Given the description of an element on the screen output the (x, y) to click on. 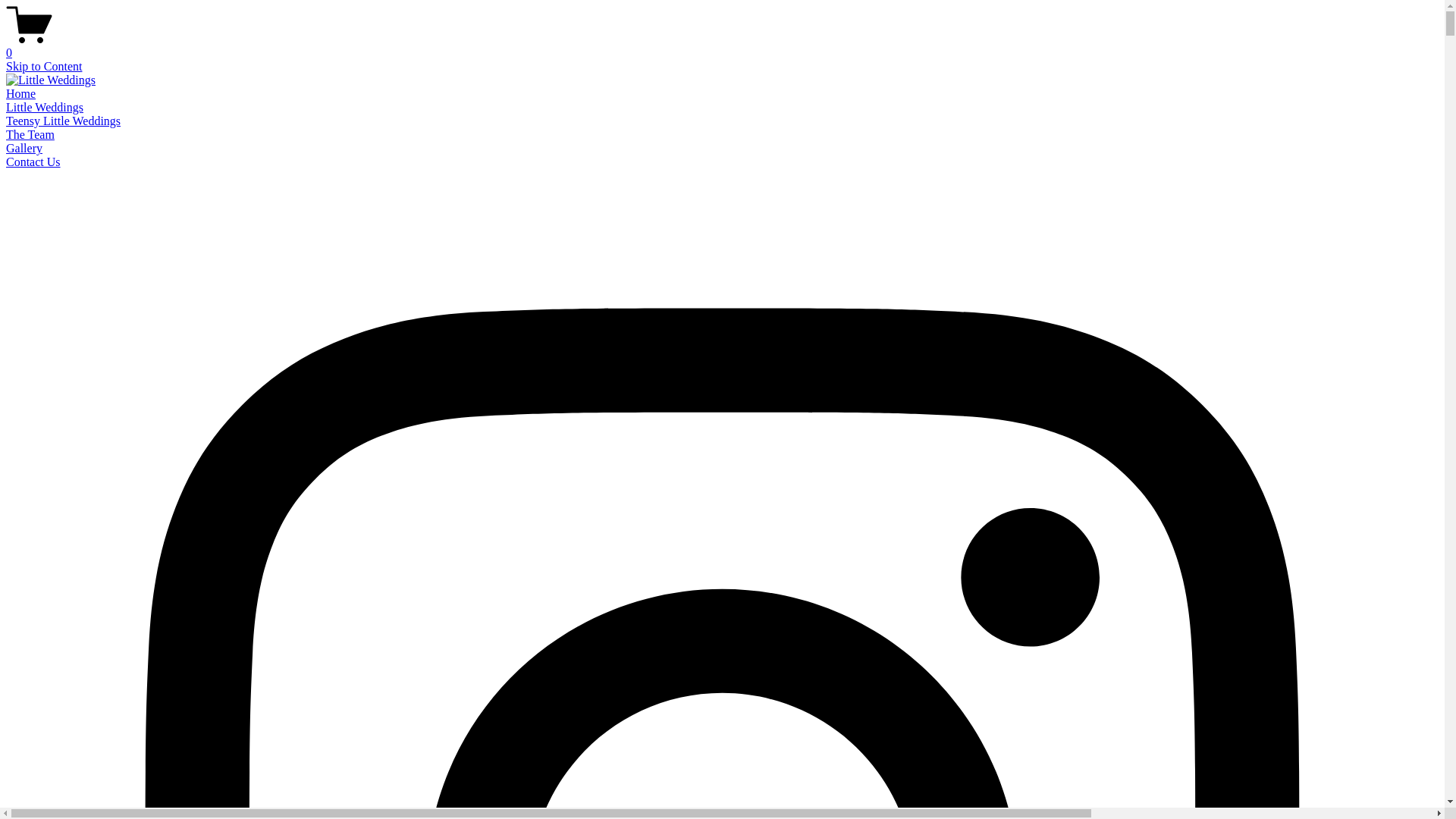
Teensy Little Weddings Element type: text (63, 120)
0 Element type: text (722, 45)
The Team Element type: text (30, 134)
Gallery Element type: text (24, 147)
Contact Us Element type: text (33, 161)
Little Weddings Element type: text (44, 106)
Home Element type: text (20, 93)
Skip to Content Element type: text (43, 65)
